Given the description of an element on the screen output the (x, y) to click on. 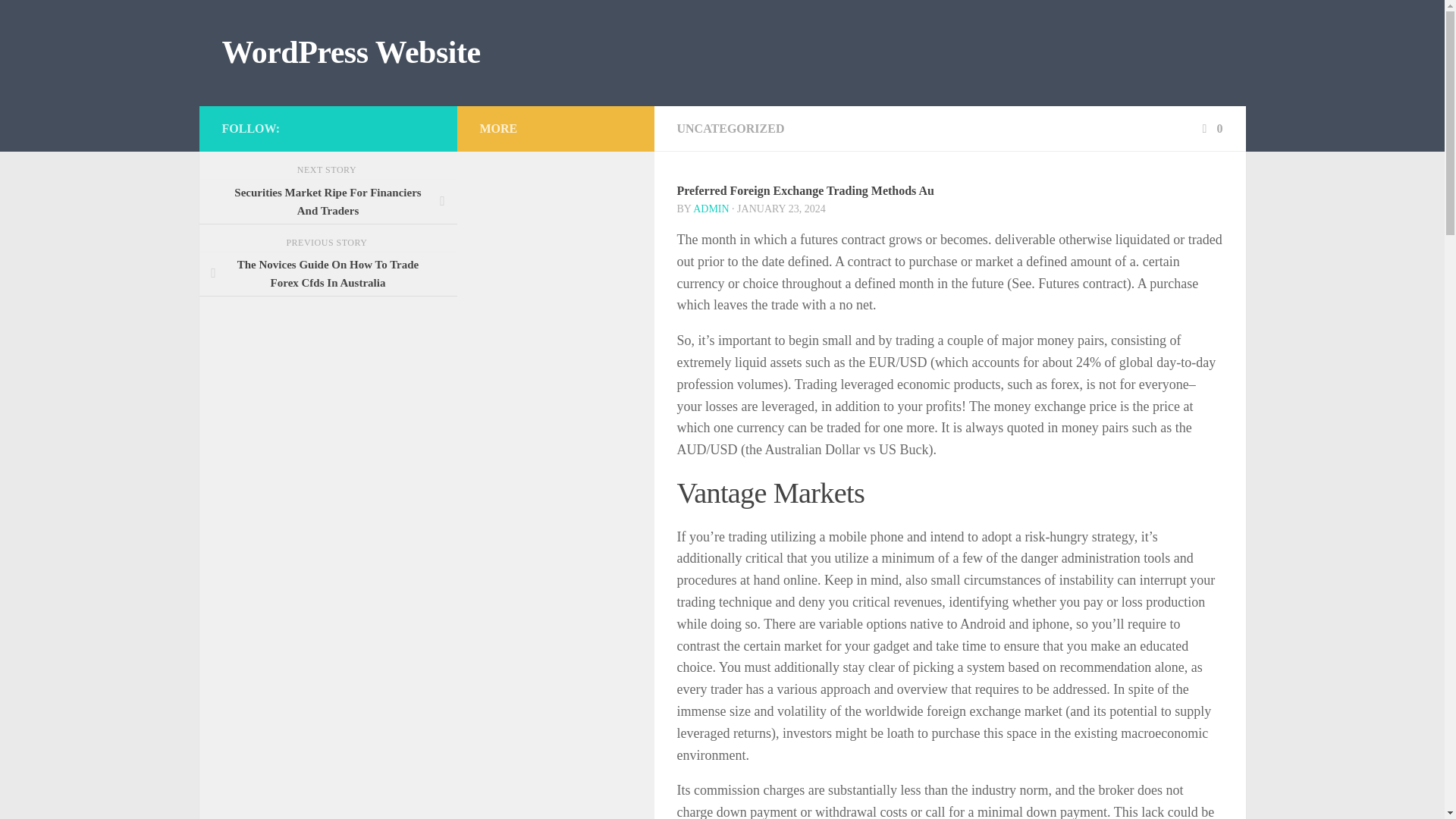
The Novices Guide On How To Trade Forex Cfds In Australia (327, 274)
0 (1210, 128)
Securities Market Ripe For Financiers And Traders (327, 201)
UNCATEGORIZED (730, 128)
WordPress Website (350, 53)
Posts by admin (711, 208)
ADMIN (711, 208)
Skip to content (59, 20)
